Given the description of an element on the screen output the (x, y) to click on. 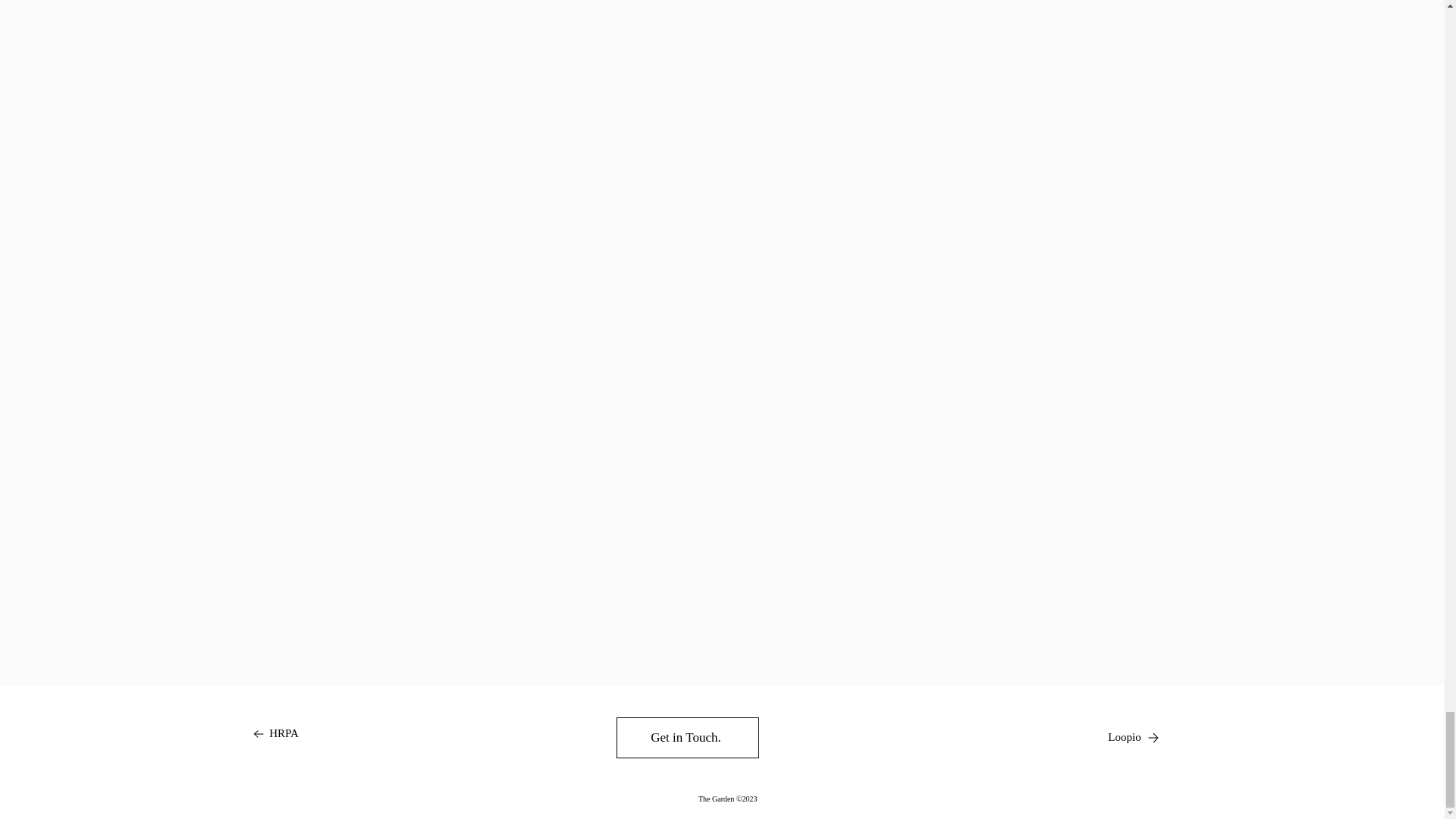
HRPA (274, 733)
Loopio (1133, 737)
Get in Touch. (686, 737)
